Given the description of an element on the screen output the (x, y) to click on. 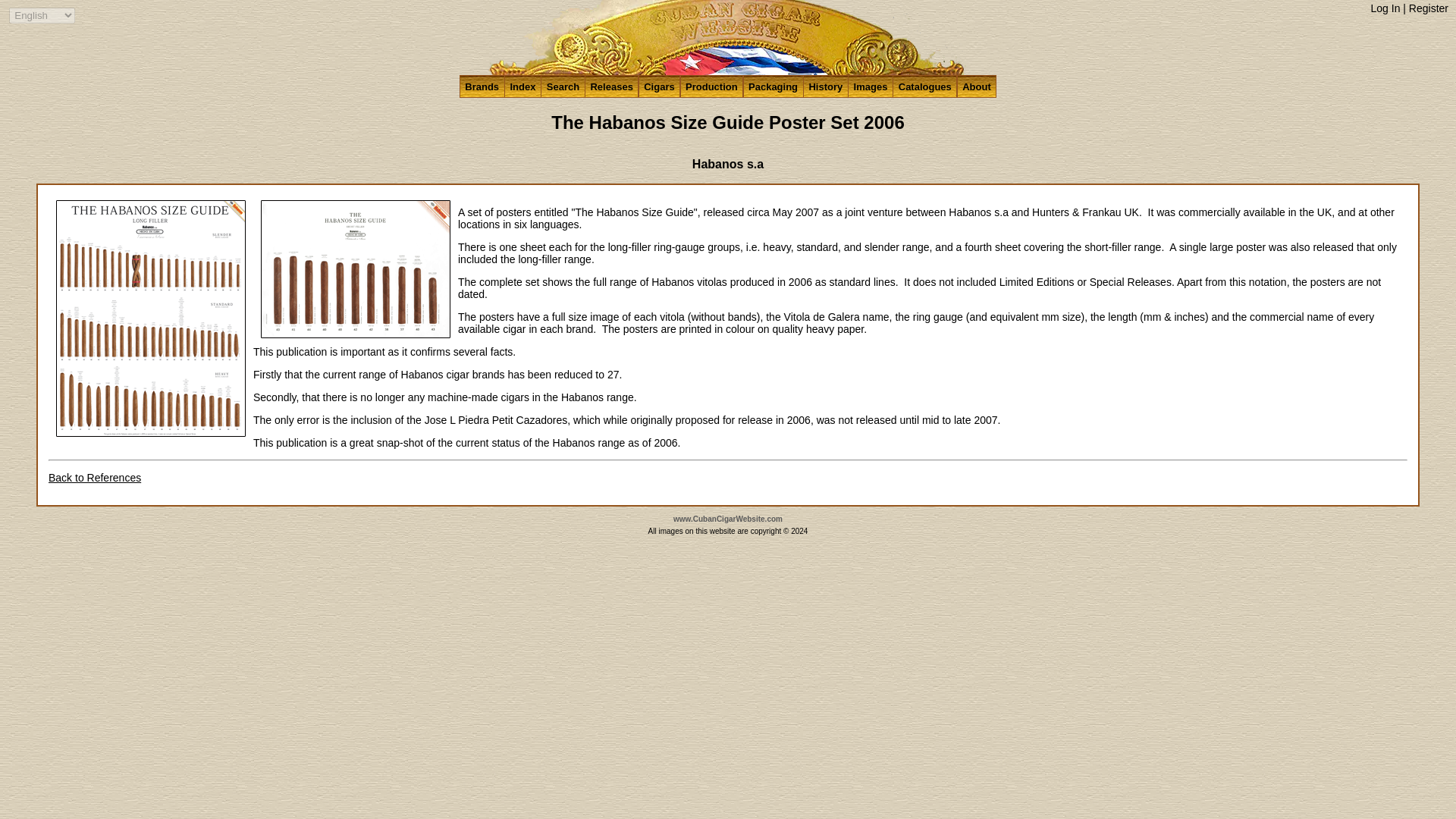
History (825, 86)
Index (522, 86)
The Habanos Size Guide Poster (151, 317)
Brands (482, 86)
The Habanos Size Guide Poster (354, 268)
Production (711, 86)
About (976, 86)
Back to References (94, 477)
Cigars (659, 86)
Catalogues (924, 86)
Search (562, 86)
Log In (1385, 8)
Packaging (772, 86)
Register (1428, 8)
Images (870, 86)
